Given the description of an element on the screen output the (x, y) to click on. 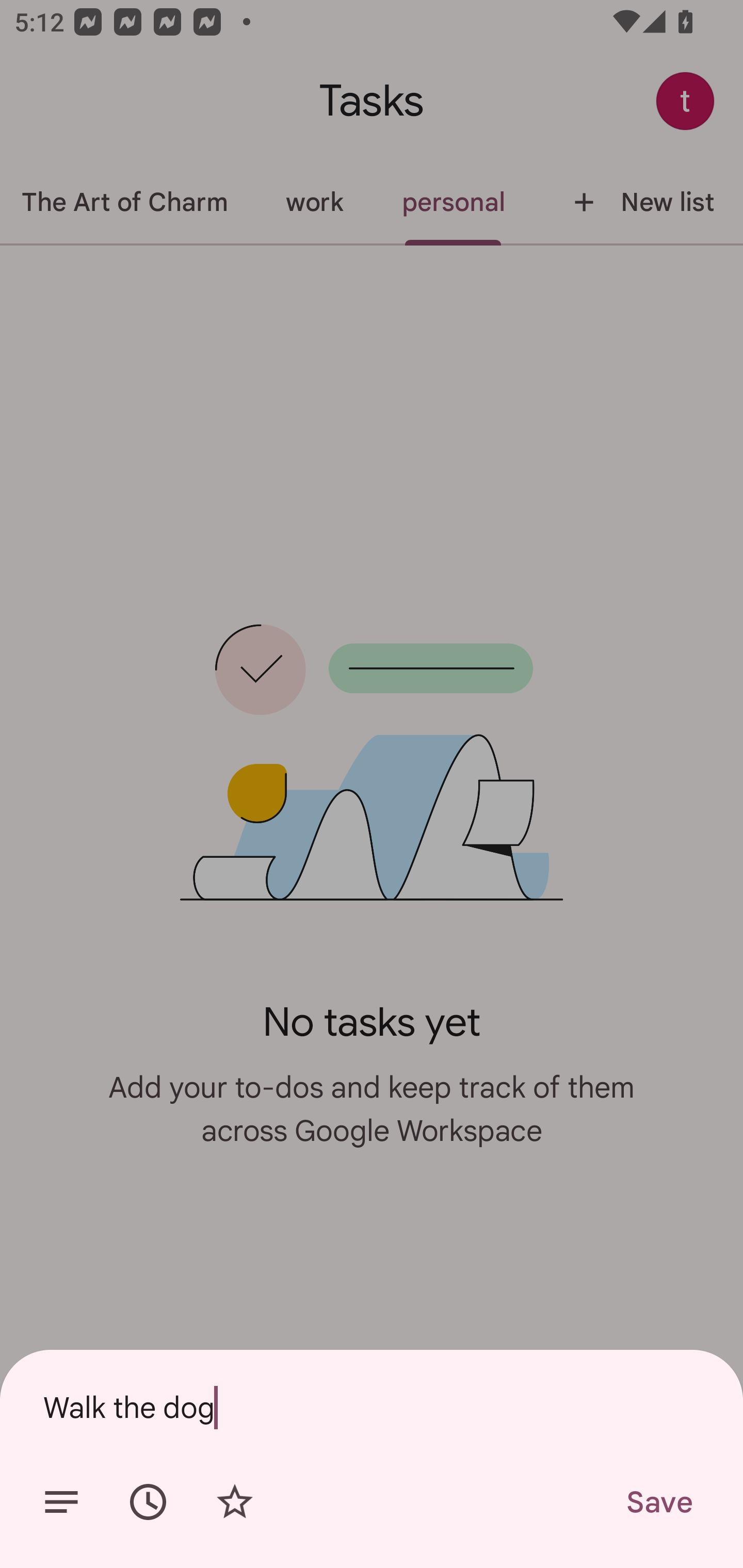
Walk the dog (371, 1407)
Save (659, 1501)
Add details (60, 1501)
Set date/time (147, 1501)
Add star (234, 1501)
